Given the description of an element on the screen output the (x, y) to click on. 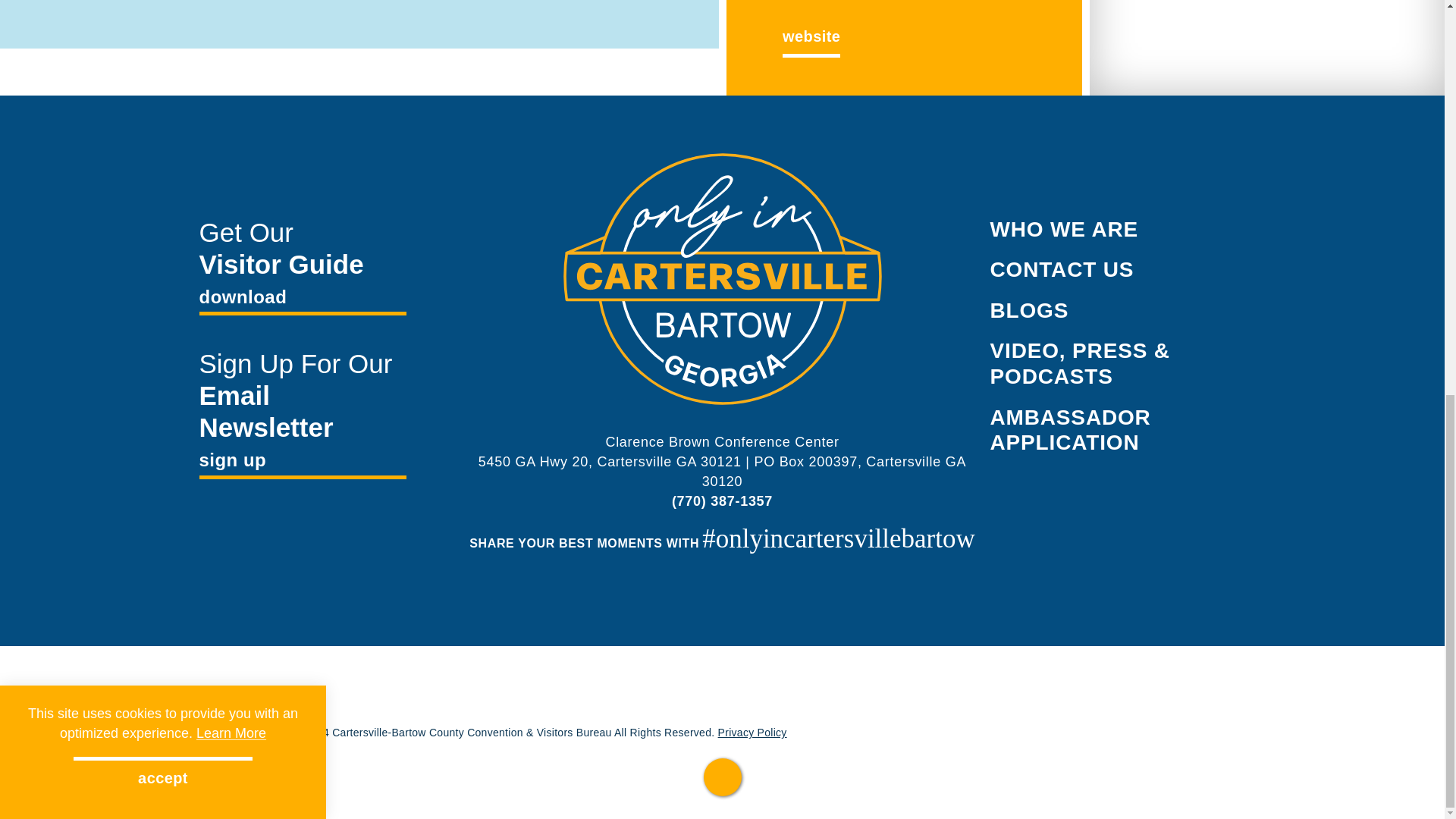
WHO WE ARE (1064, 228)
download (302, 299)
CONTACT US (1062, 269)
website (810, 35)
Privacy Policy (752, 732)
BLOGS (1029, 310)
AMBASSADOR APPLICATION (1070, 430)
sign up (302, 462)
